Given the description of an element on the screen output the (x, y) to click on. 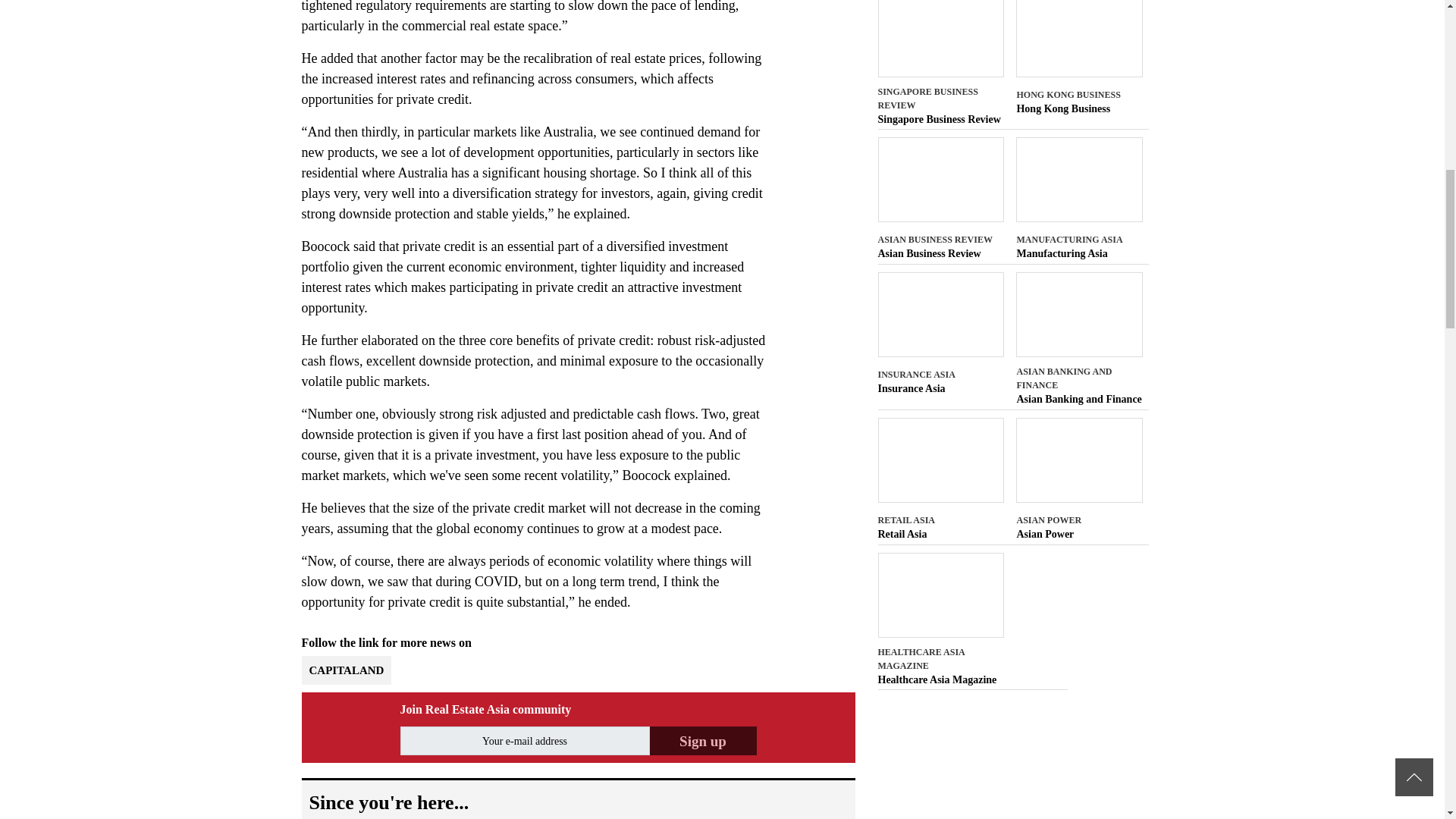
Soft drinks industry uses AI for new flavours (940, 534)
Please enter a valid email (524, 740)
Sign up (702, 740)
